Given the description of an element on the screen output the (x, y) to click on. 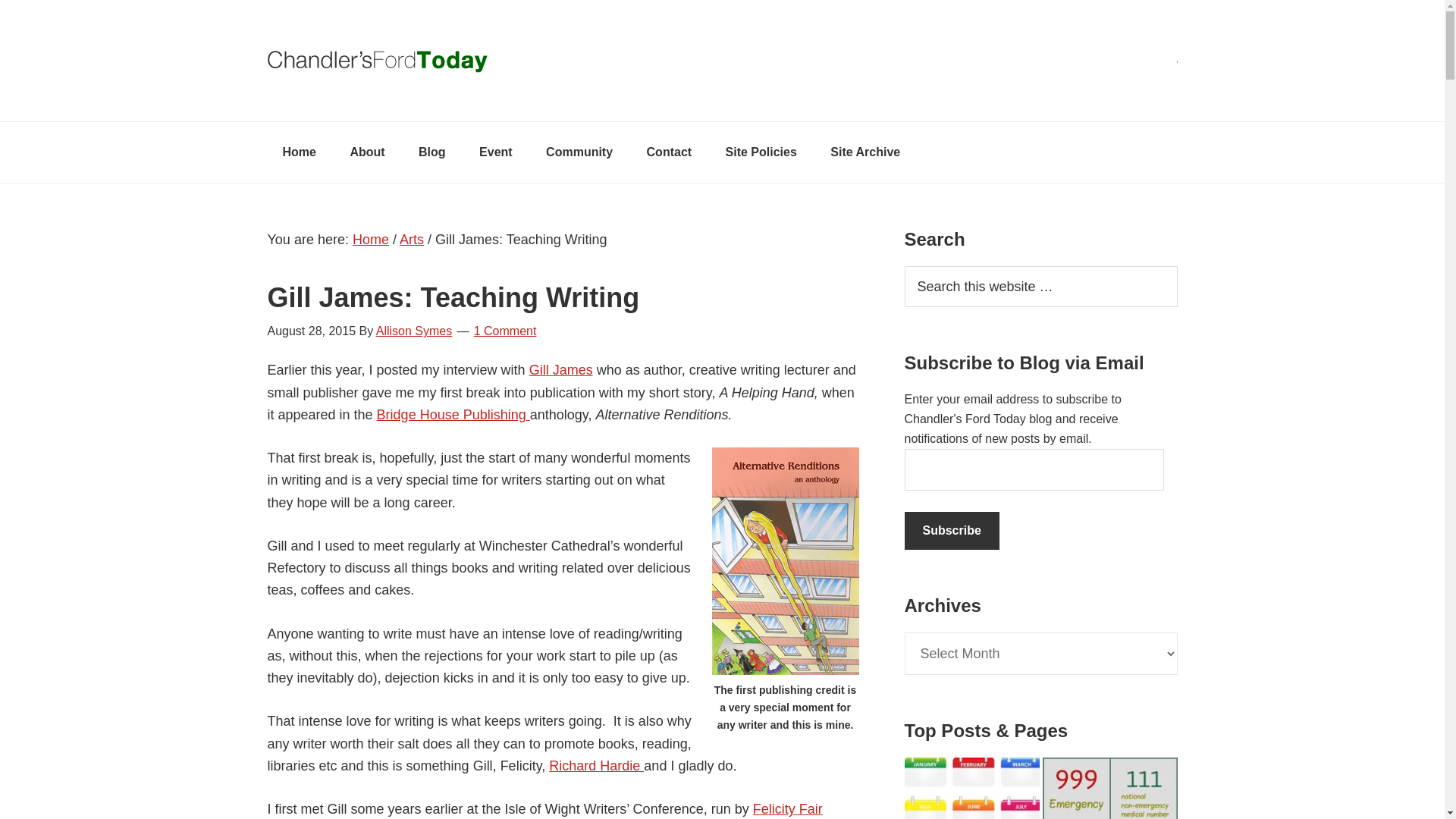
Gill James (560, 369)
Bridge House Publishing (453, 414)
Community (579, 152)
1 Comment (505, 330)
Home (298, 152)
Richard Hardie (595, 765)
Home (370, 239)
Contact (669, 152)
Event (495, 152)
Site Archive (865, 152)
Chandler's Ford Today (721, 60)
About (366, 152)
Exciting community events (495, 152)
